Given the description of an element on the screen output the (x, y) to click on. 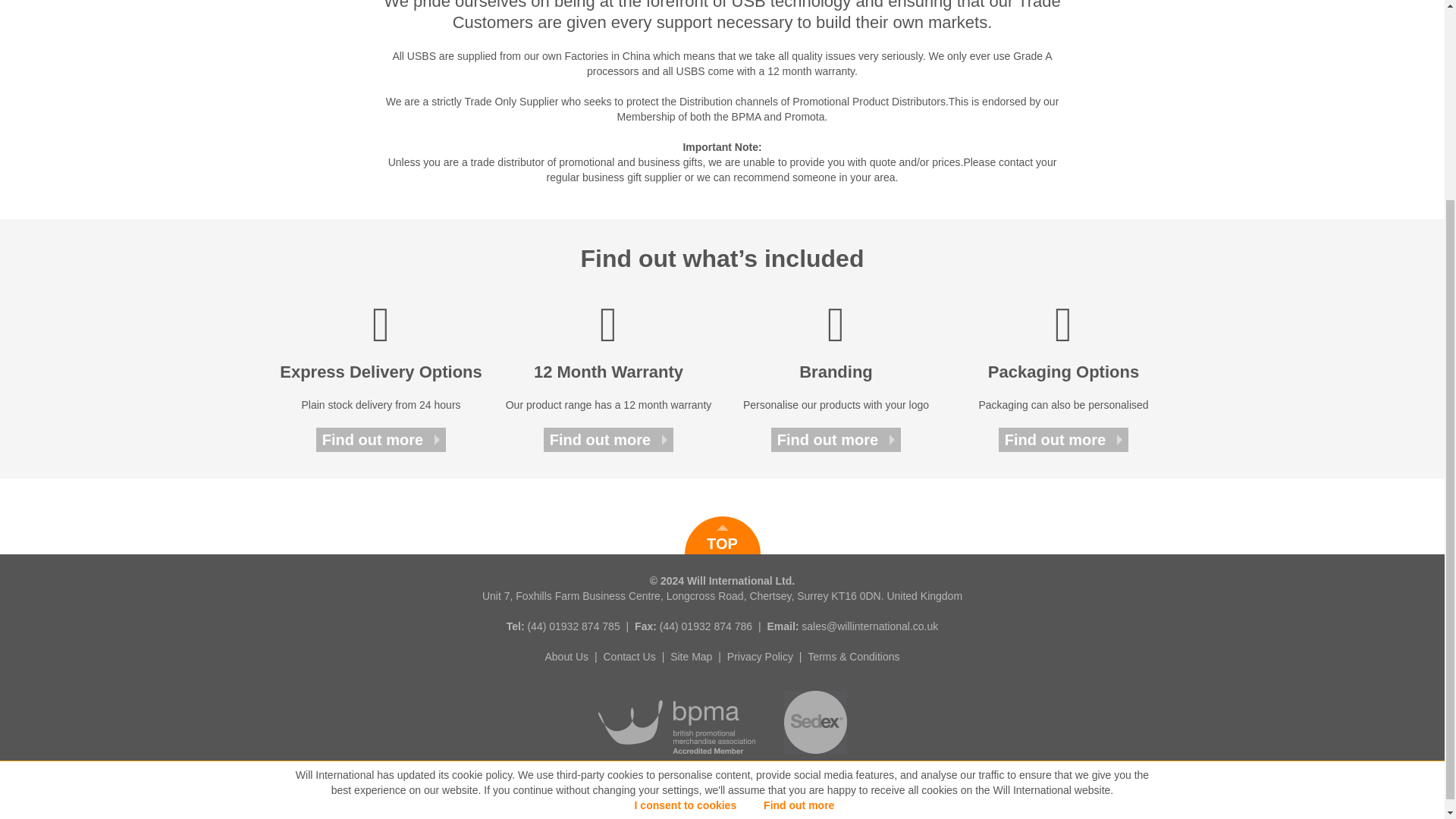
Contact Us (628, 656)
Find out more (607, 439)
Site Map (690, 656)
Find out more (1063, 439)
Sedex (816, 761)
TOP (722, 535)
Find out more (380, 439)
Find out more (798, 547)
Find out more (836, 439)
Privacy Policy (759, 656)
I consent to cookies (685, 547)
TOP (722, 535)
About Us (566, 656)
BPMA (678, 761)
